Given the description of an element on the screen output the (x, y) to click on. 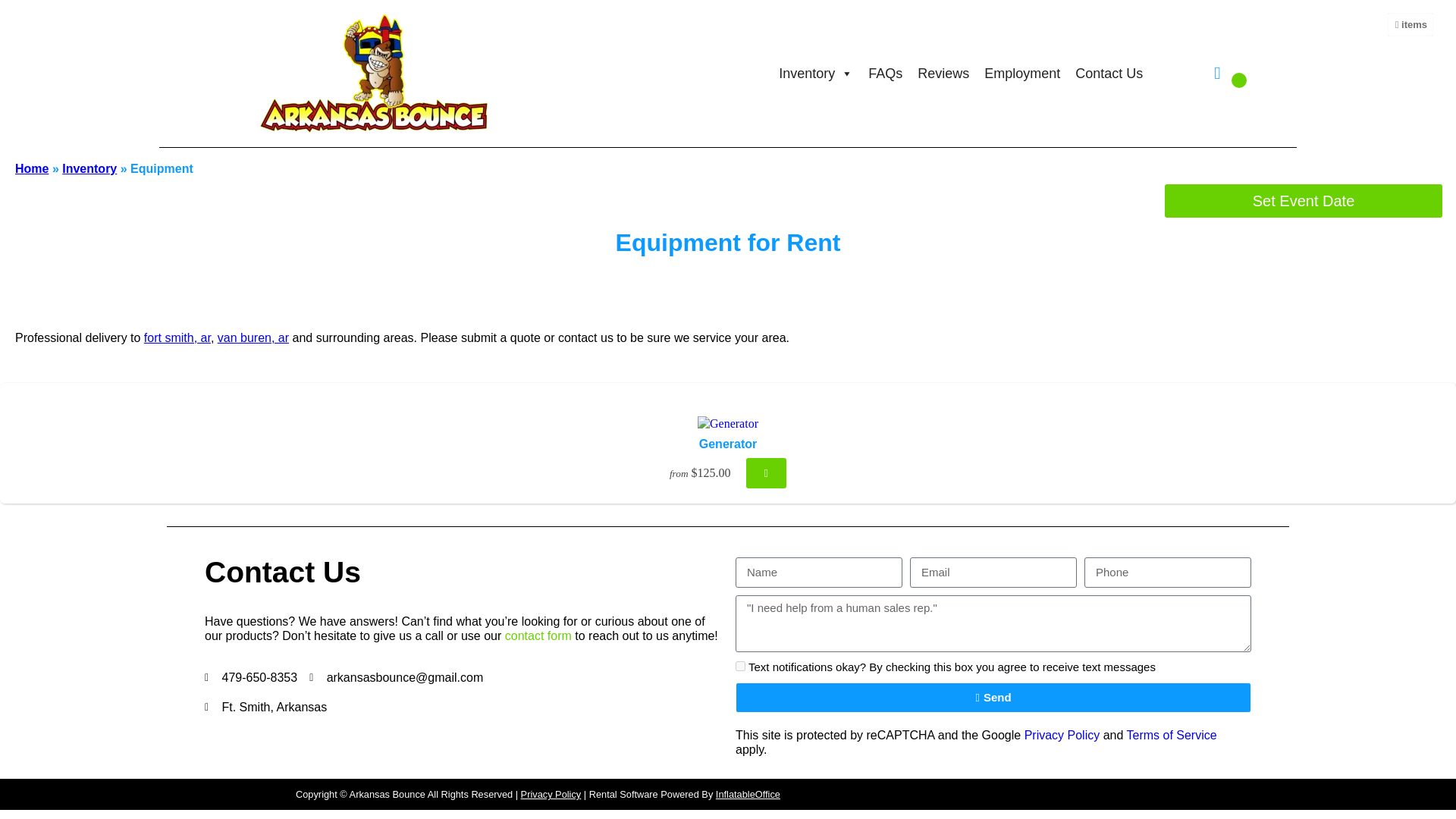
FAQs (885, 73)
Home (31, 168)
Inventory (815, 73)
Employment (1021, 73)
Inventory (89, 168)
van buren, ar (252, 337)
fort smith, ar (177, 337)
Reviews (943, 73)
on (740, 665)
Contact Us (1108, 73)
